Given the description of an element on the screen output the (x, y) to click on. 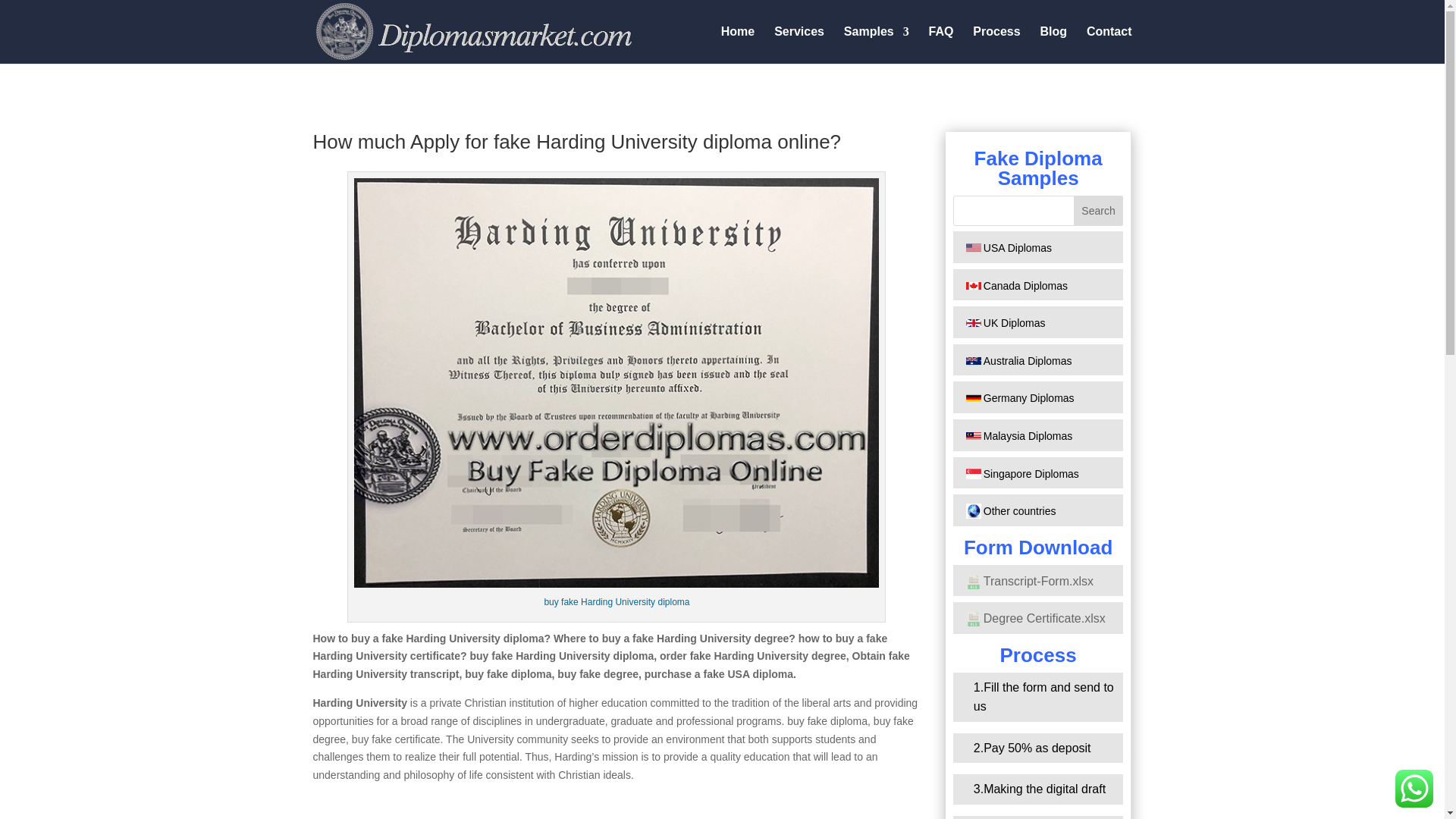
Samples (876, 44)
Services (799, 44)
Search (1099, 210)
Home (737, 44)
Search (1099, 210)
Process (996, 44)
Canada Diplomas (1017, 285)
YouTube video player (616, 812)
UK Diplomas (1006, 322)
USA Diplomas (1009, 247)
Contact (1109, 44)
